Given the description of an element on the screen output the (x, y) to click on. 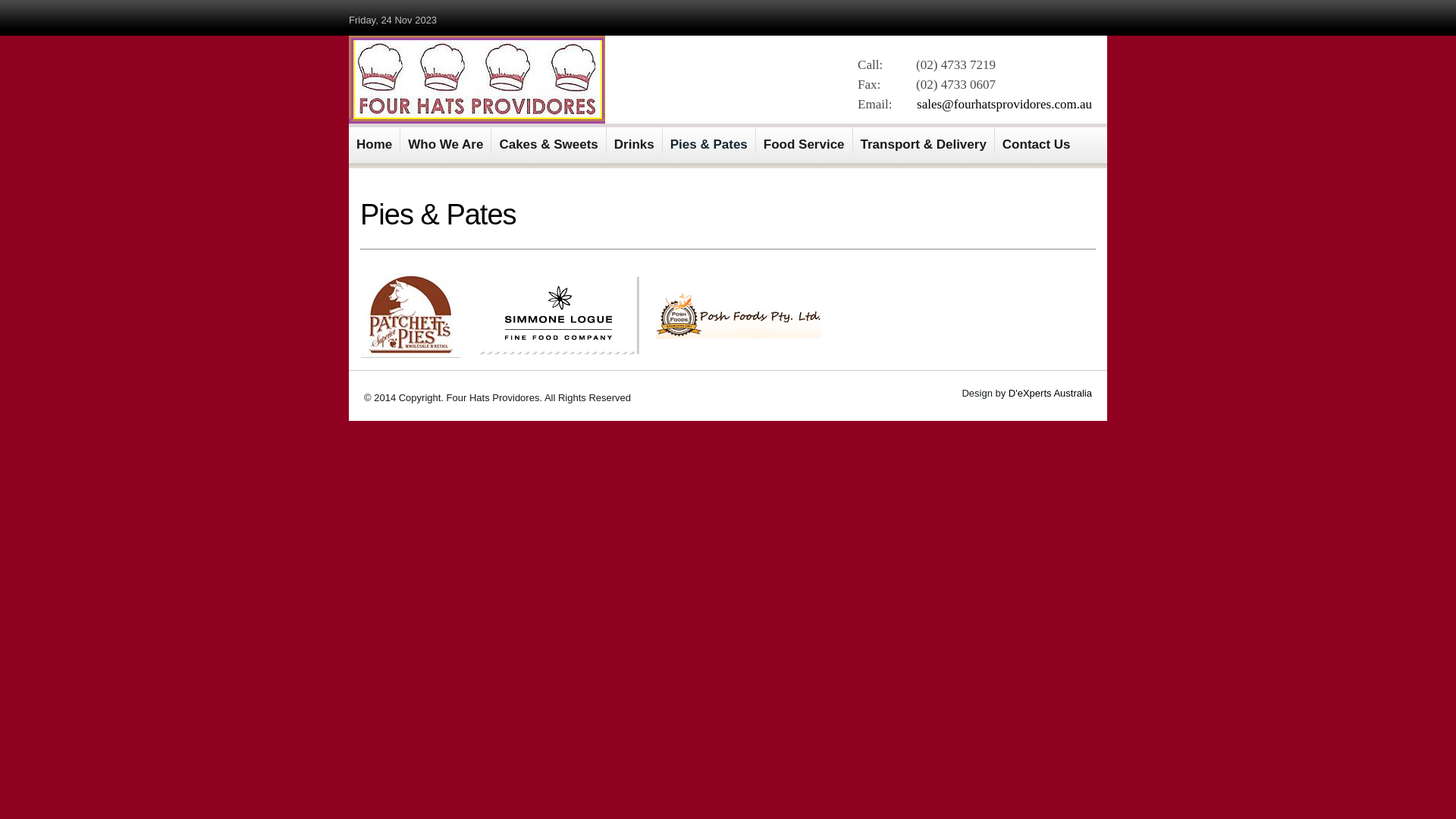
D'eXperts Australia Element type: text (1050, 392)
Transport & Delivery Element type: text (923, 140)
Cakes & Sweets Element type: text (548, 140)
Who We Are Element type: text (445, 140)
Pies & Pates Element type: text (438, 214)
Home Element type: text (374, 140)
Contact Us Element type: text (1036, 140)
Pies & Pates Element type: text (709, 140)
Food Service Element type: text (804, 140)
sales@fourhatsprovidores.com.au Element type: text (1004, 104)
Drinks Element type: text (634, 140)
